Given the description of an element on the screen output the (x, y) to click on. 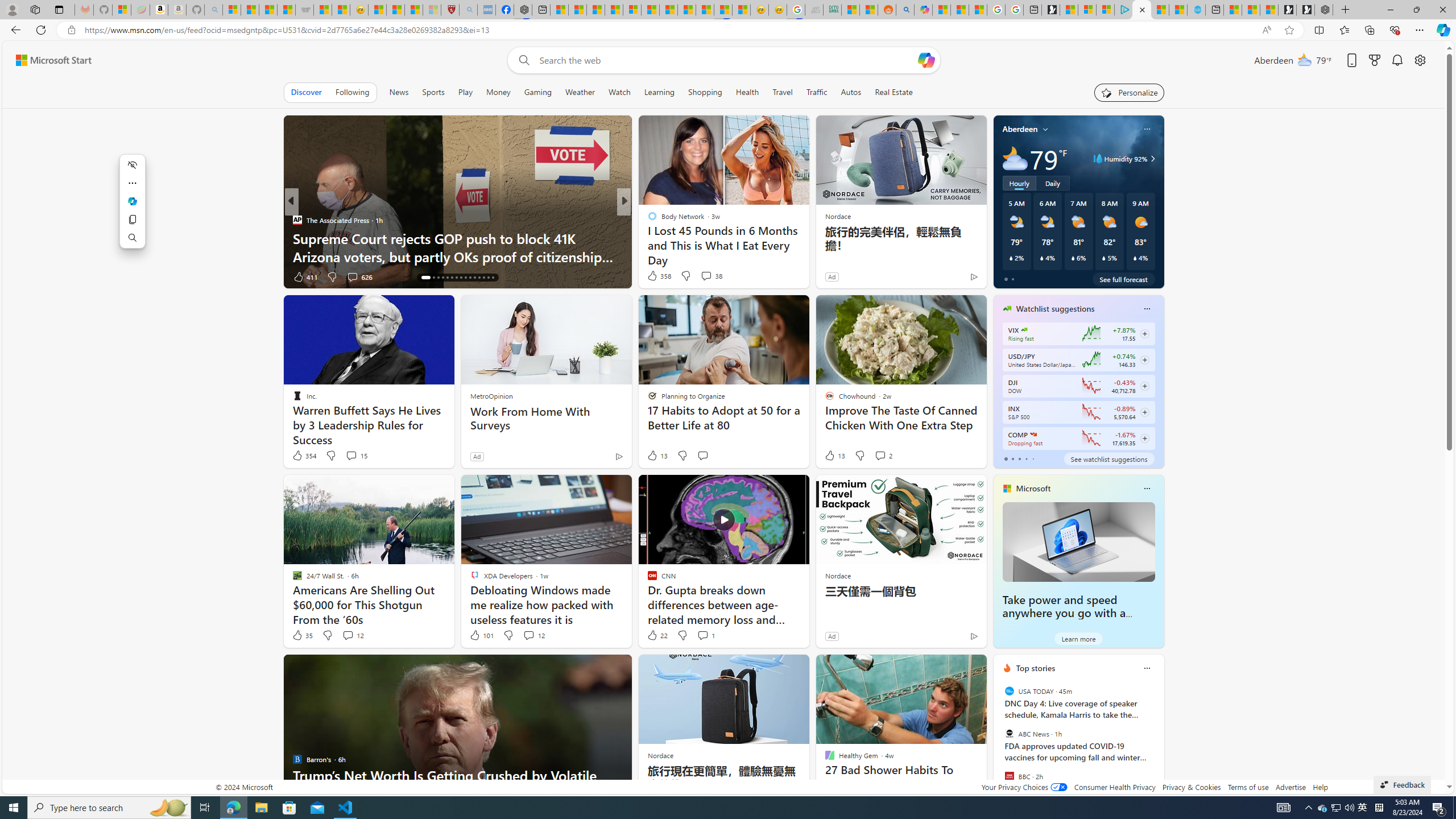
Copy (132, 219)
View comments 5 Comment (698, 276)
Class: follow-button  m (1144, 438)
165 Like (654, 276)
AutomationID: tab-20 (446, 277)
Sky Blue Bikes (663, 238)
